Given the description of an element on the screen output the (x, y) to click on. 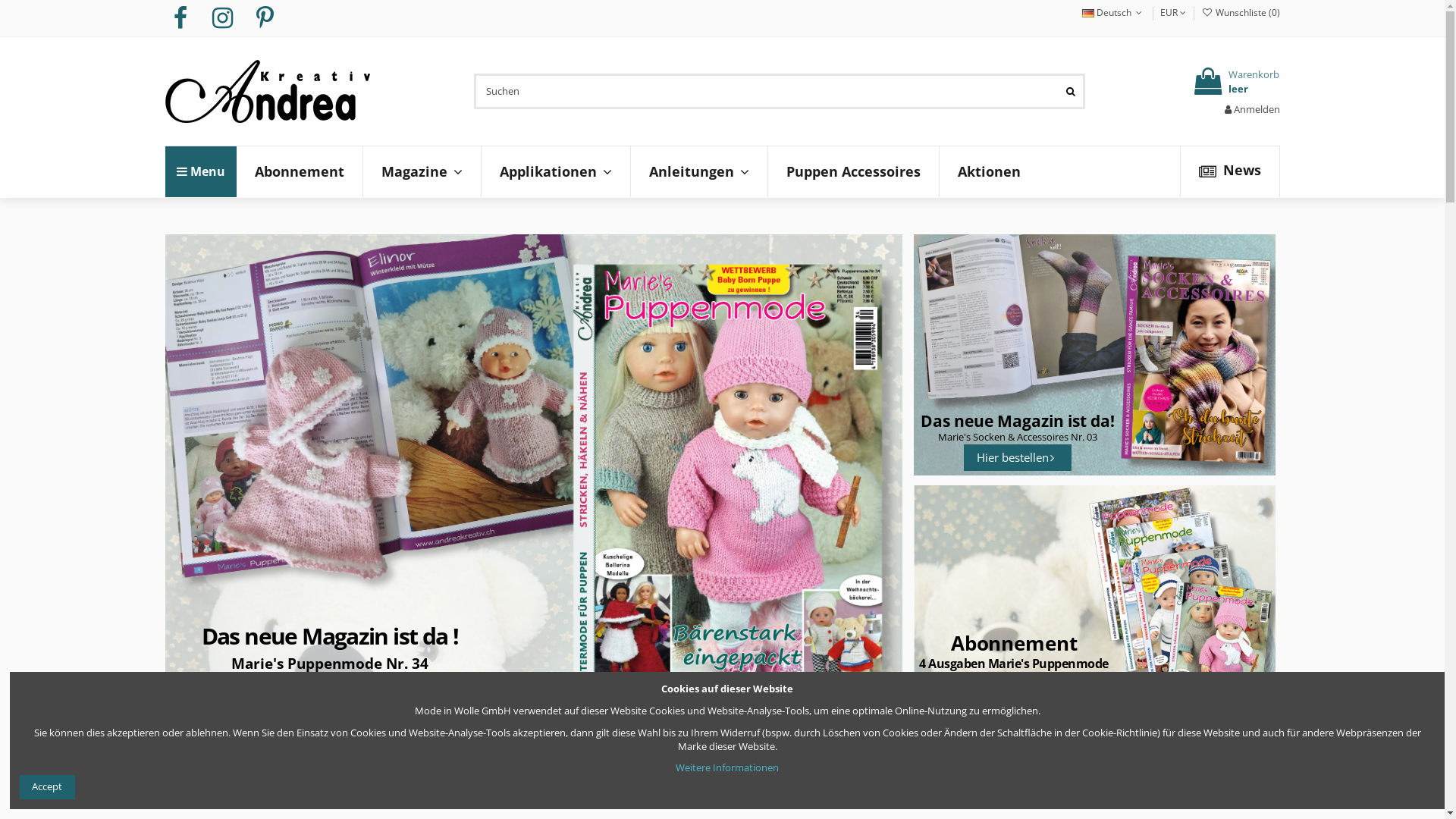
Aktionen Element type: text (988, 171)
Applikationen Element type: text (555, 171)
Anleitungen Element type: text (697, 171)
Deutsch Element type: text (1113, 12)
Anmelden Element type: text (1251, 108)
Abonnement Element type: text (299, 171)
Warenkorb
leer Element type: text (1234, 80)
Weitere Informationen Element type: text (726, 767)
Accept Element type: text (47, 787)
News Element type: text (1229, 171)
EUR Element type: text (1173, 12)
Puppen Accessoires Element type: text (852, 171)
Magazine Element type: text (421, 171)
Wunschliste (0) Element type: text (1240, 12)
Abonnement
4 Ausgaben Marie's Puppenmode
Hier bestellen Element type: text (1094, 605)
